Given the description of an element on the screen output the (x, y) to click on. 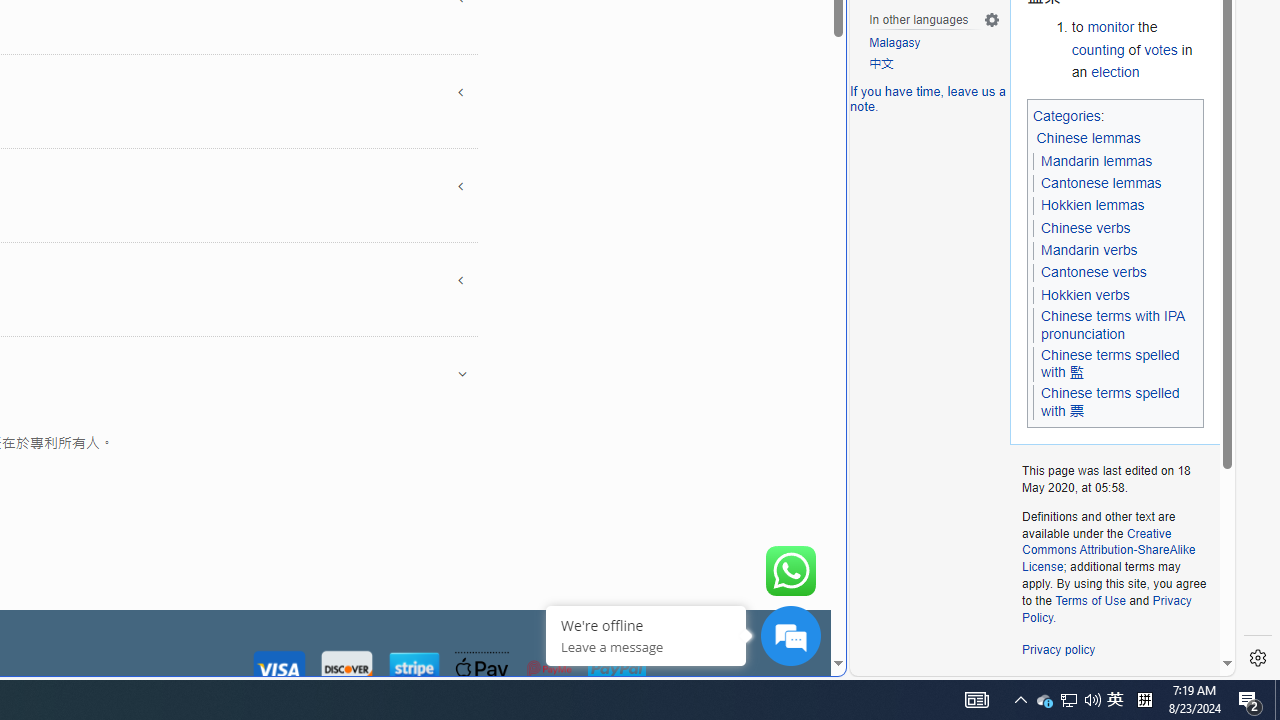
Privacy Policy. (1106, 608)
